Given the description of an element on the screen output the (x, y) to click on. 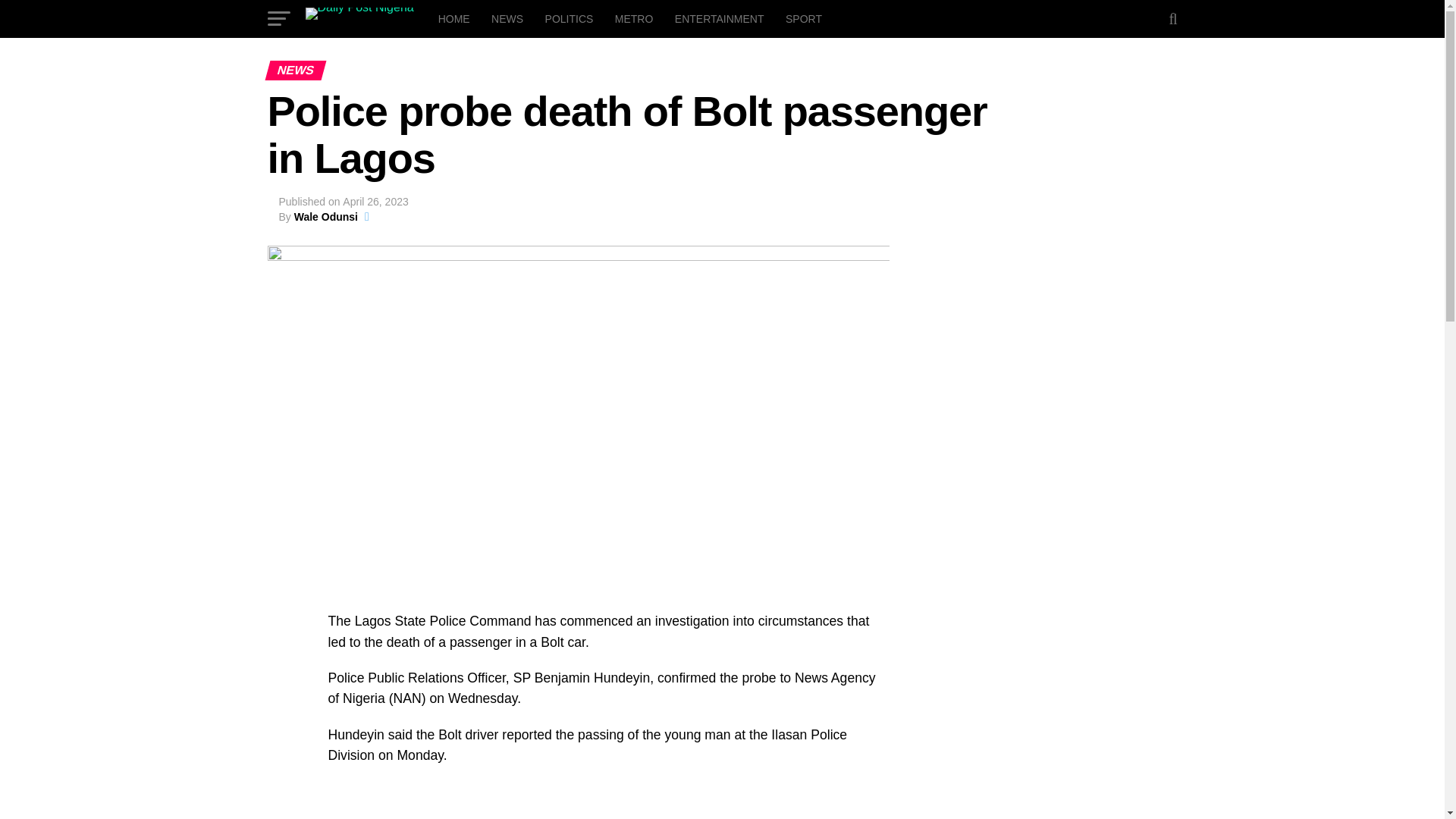
HOME (454, 18)
Posts by Wale Odunsi (326, 216)
Wale Odunsi (326, 216)
SPORT (803, 18)
POLITICS (568, 18)
ENTERTAINMENT (719, 18)
NEWS (506, 18)
METRO (633, 18)
